Given the description of an element on the screen output the (x, y) to click on. 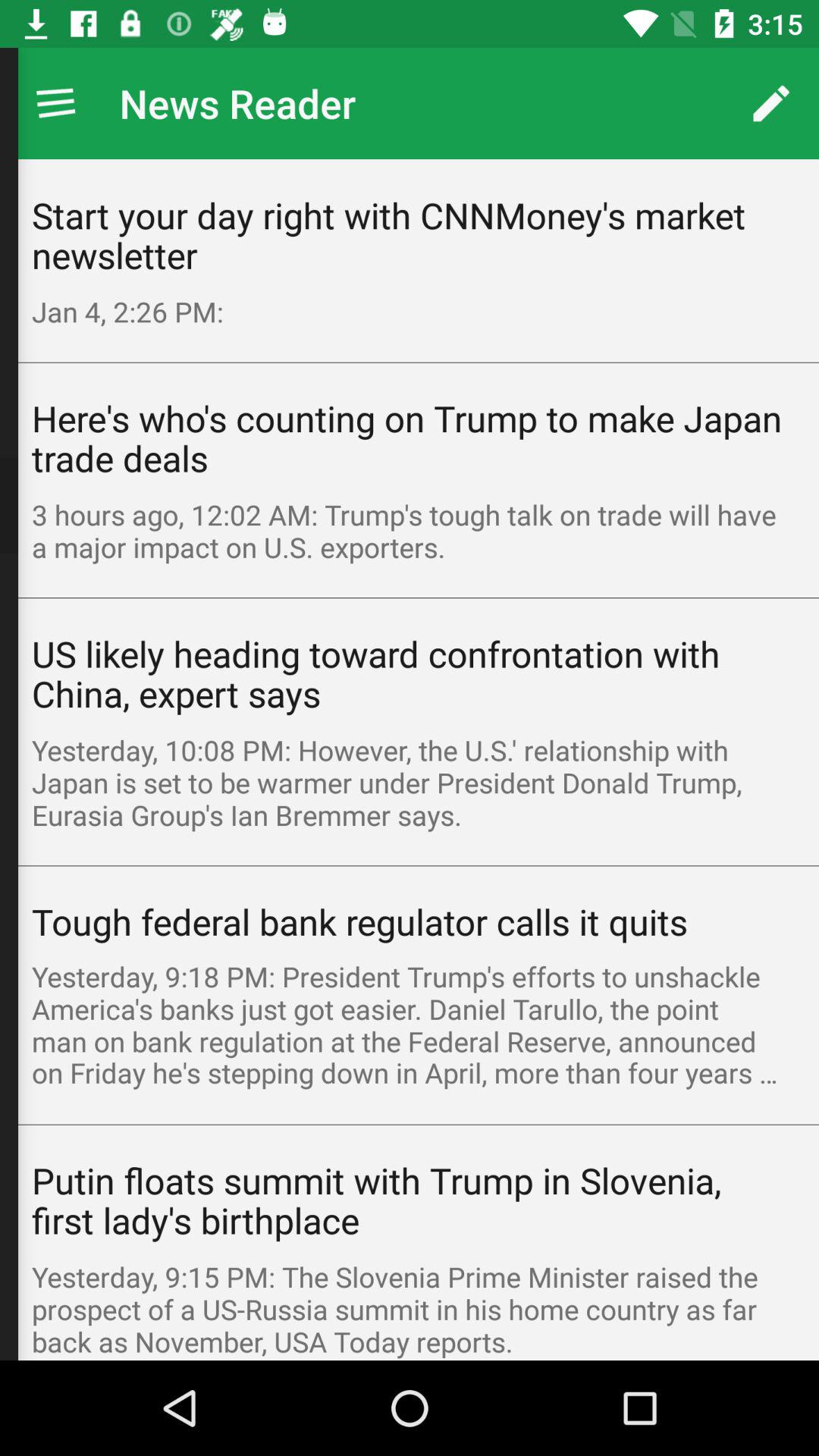
turn on the item to the left of the news reader icon (55, 103)
